Given the description of an element on the screen output the (x, y) to click on. 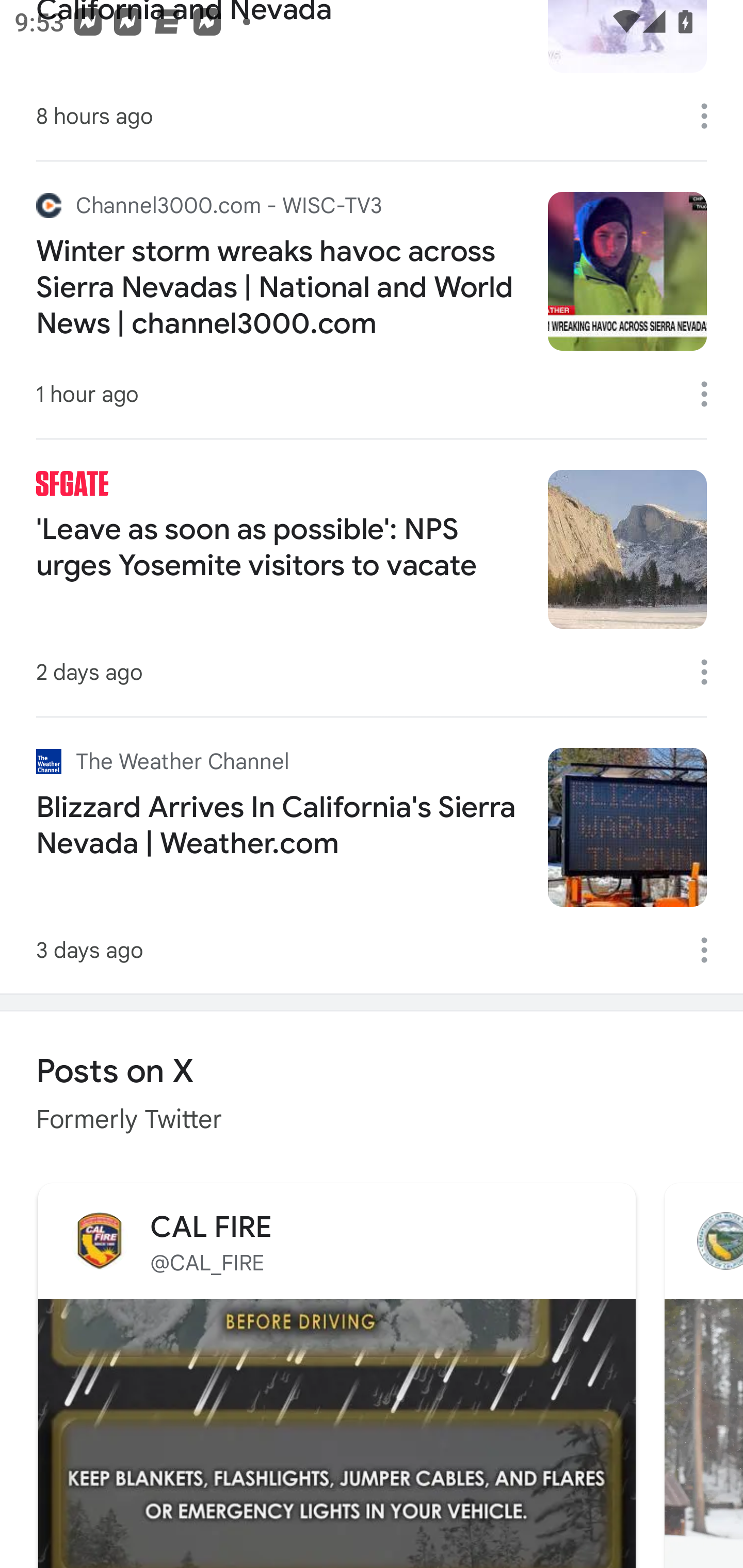
More options (711, 115)
More options (711, 394)
More options (711, 671)
More options (711, 950)
CAL FIRE @CAL_FIRE Image included in post (336, 1372)
